Given the description of an element on the screen output the (x, y) to click on. 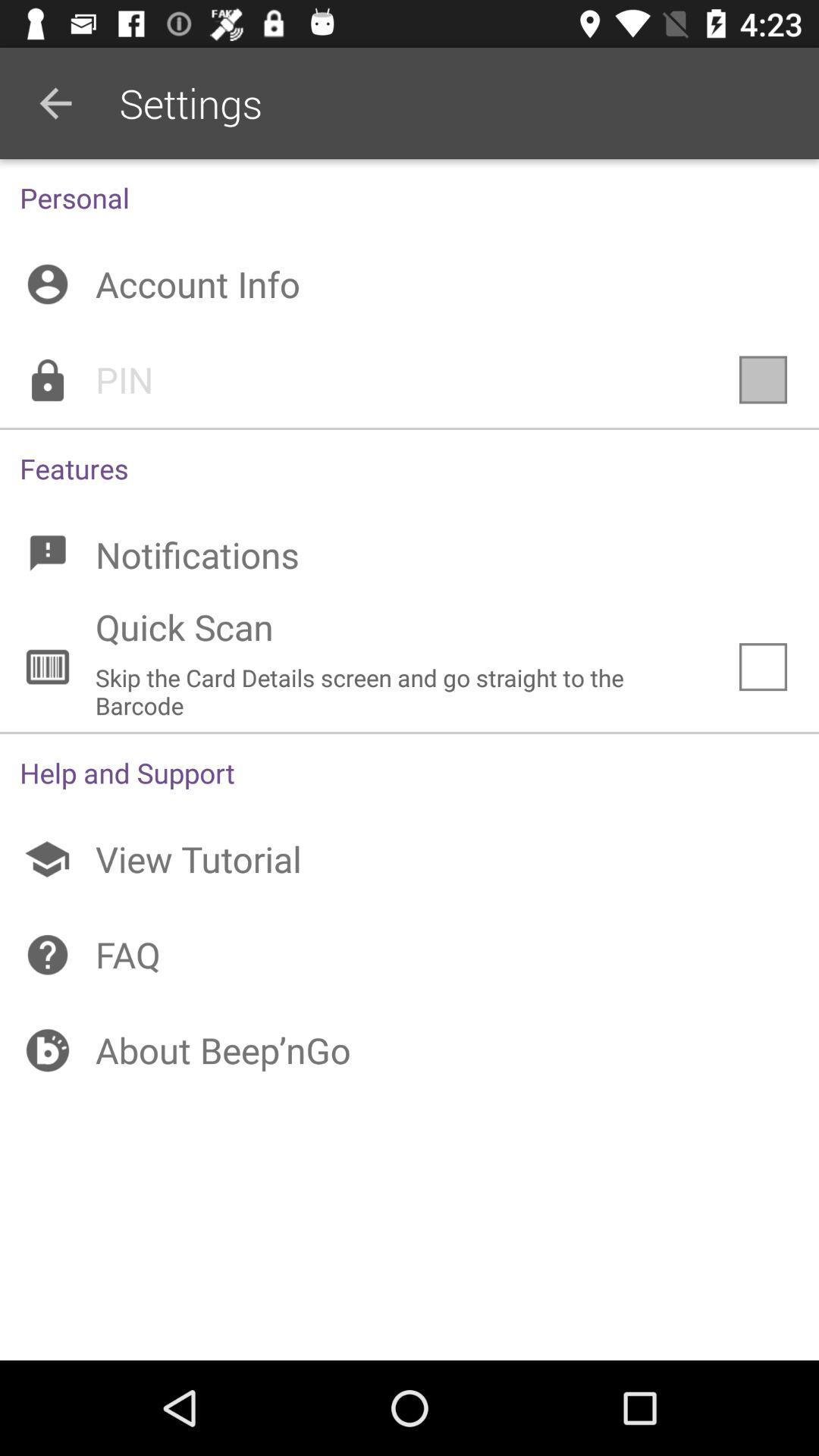
turn on the icon above the faq icon (409, 859)
